Given the description of an element on the screen output the (x, y) to click on. 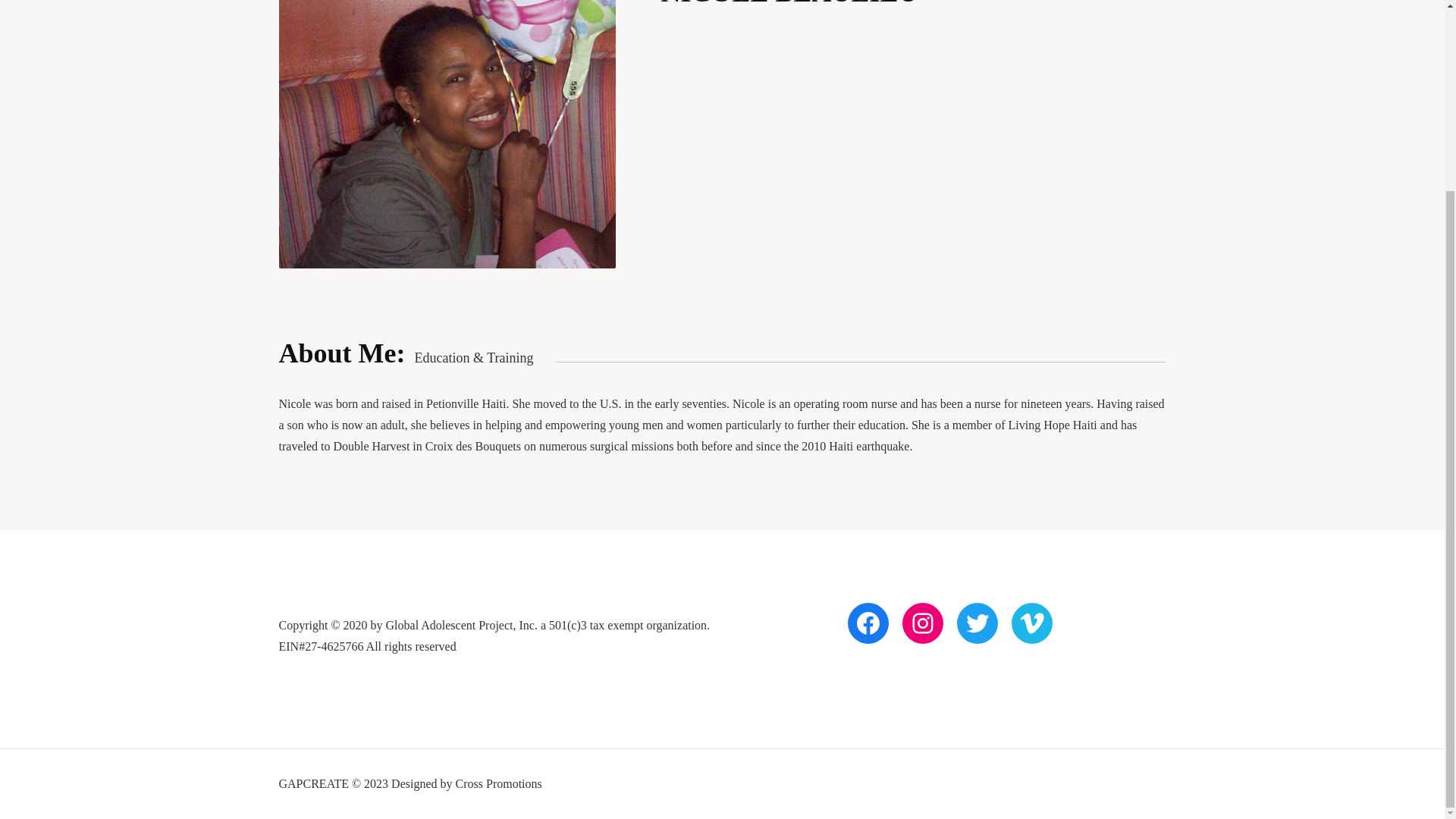
Designed by Cross Promotions (466, 783)
